Given the description of an element on the screen output the (x, y) to click on. 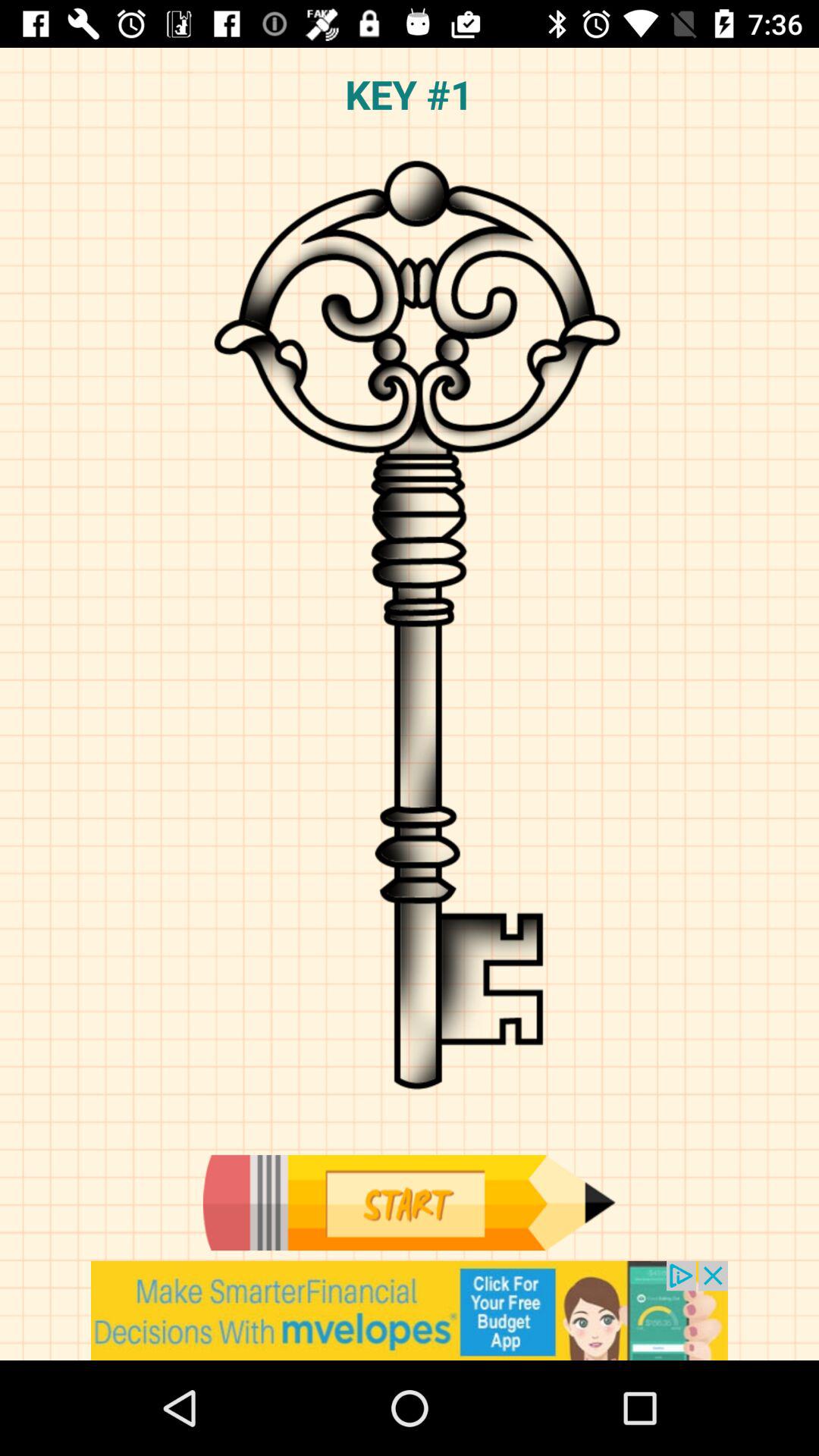
app footer advertisement window (409, 1310)
